Given the description of an element on the screen output the (x, y) to click on. 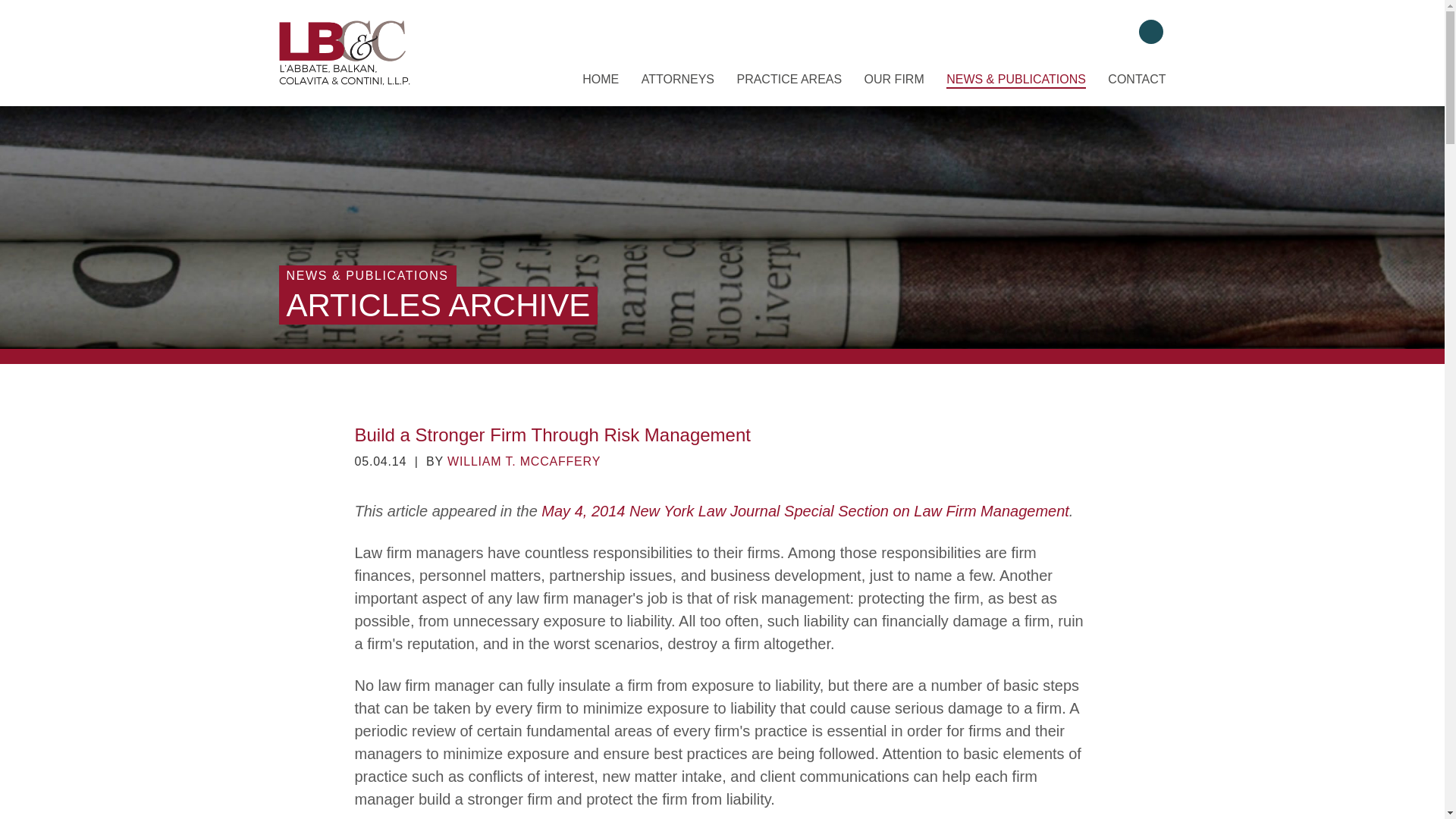
HOME (600, 79)
CONTACT (1137, 79)
WILLIAM T. MCCAFFERY (522, 461)
ATTORNEYS (678, 79)
OUR FIRM (894, 79)
PRACTICE AREAS (788, 79)
ARTICLES ARCHIVE (438, 304)
Back to Home Page (345, 51)
